Given the description of an element on the screen output the (x, y) to click on. 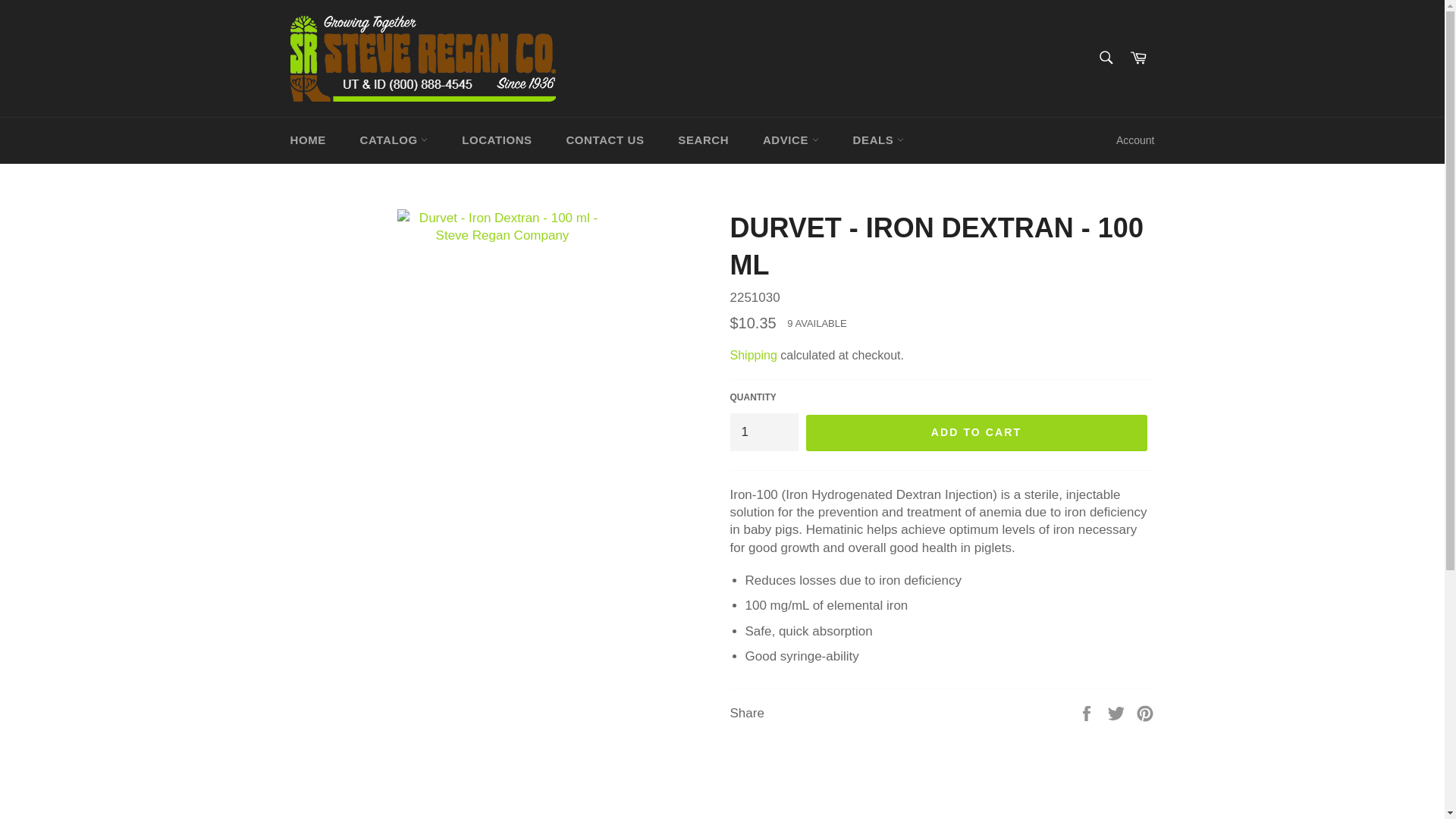
1 (763, 431)
Cart (1138, 57)
Pin on Pinterest (1144, 712)
Tweet on Twitter (1117, 712)
Search (1104, 56)
Share on Facebook (1088, 712)
